Given the description of an element on the screen output the (x, y) to click on. 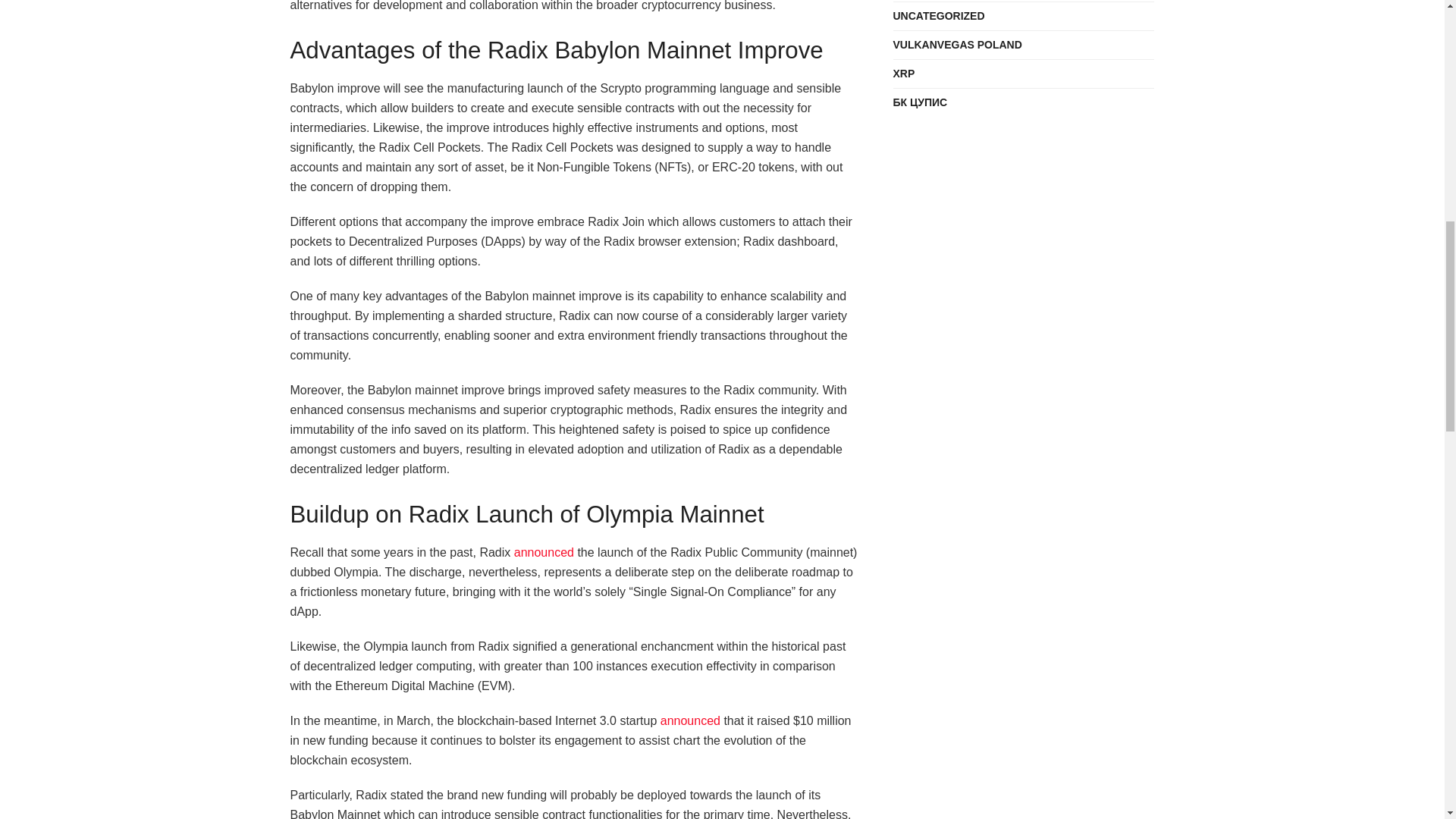
announced (543, 552)
announced (690, 720)
